Given the description of an element on the screen output the (x, y) to click on. 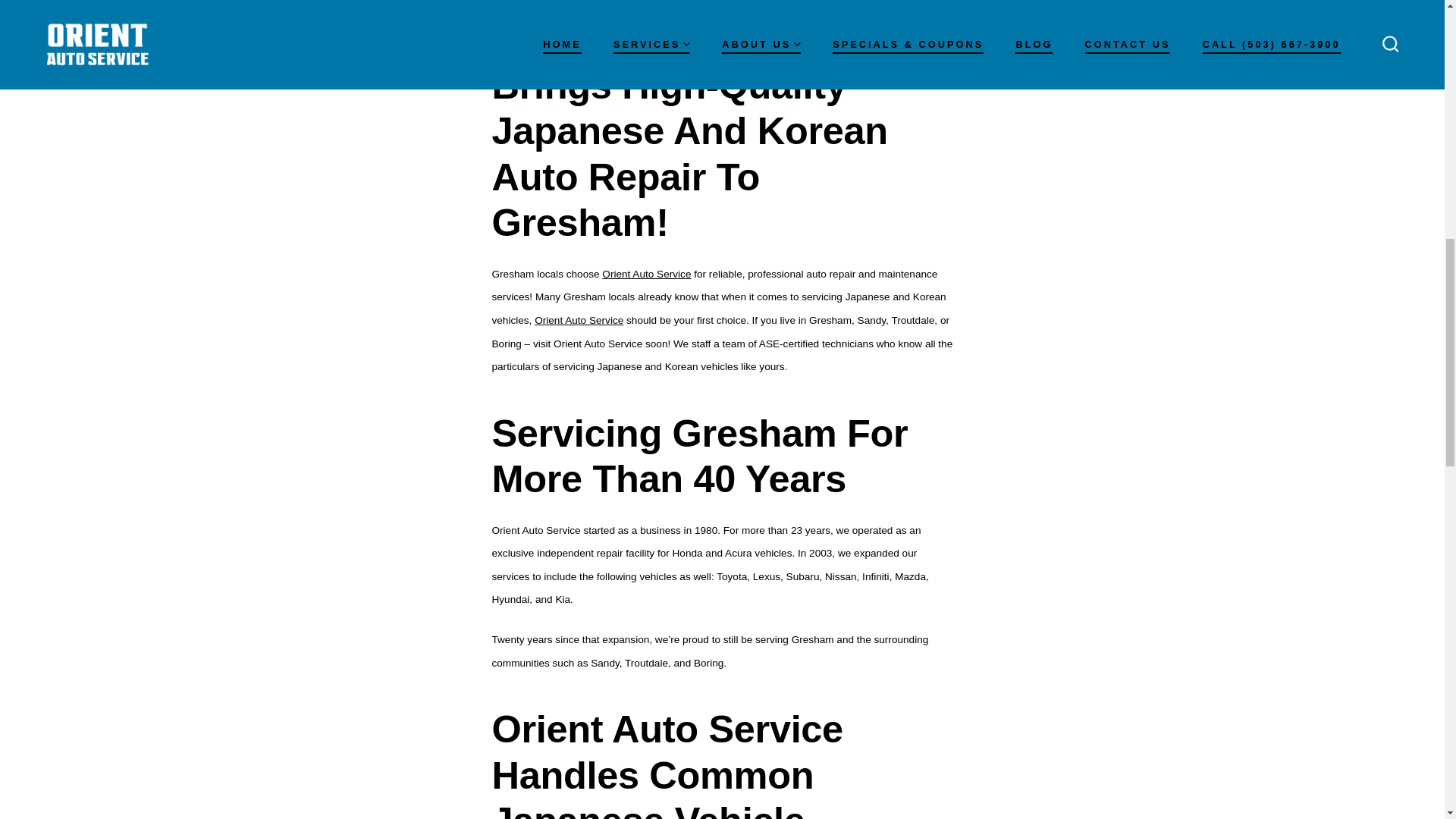
Orient Auto Service (578, 319)
Orient Auto Service (646, 274)
